Given the description of an element on the screen output the (x, y) to click on. 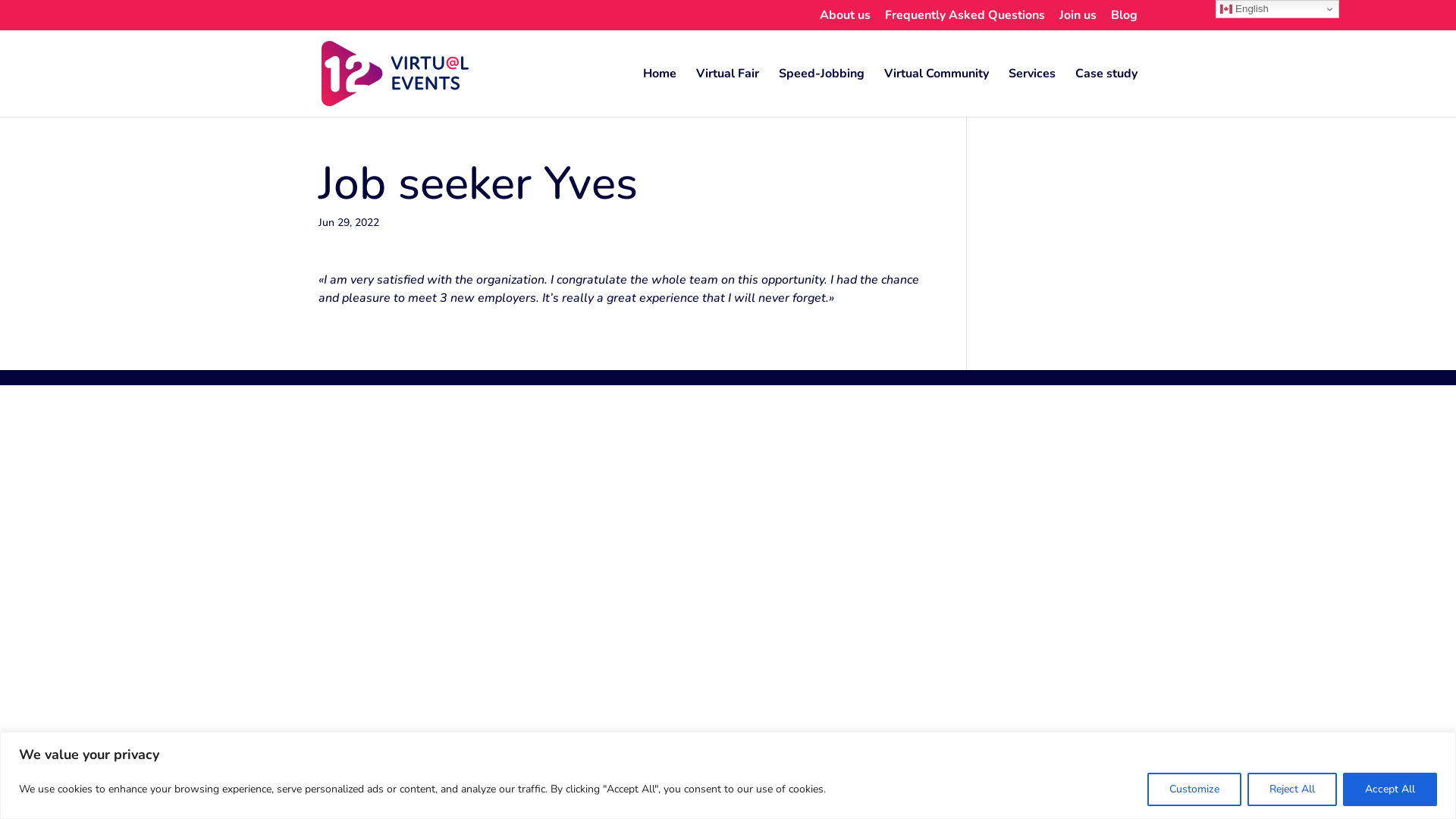
Virtual Fair Element type: text (727, 92)
Frequently Asked Questions Element type: text (964, 19)
About us Element type: text (844, 19)
English Element type: text (1277, 9)
Accept All Element type: text (1390, 788)
Reject All Element type: text (1291, 788)
Case study Element type: text (1106, 92)
Join us Element type: text (1077, 19)
Customize Element type: text (1194, 788)
Speed-Jobbing Element type: text (821, 92)
Blog Element type: text (1123, 19)
Virtual Community Element type: text (936, 92)
Services Element type: text (1031, 92)
Home Element type: text (659, 92)
